Given the description of an element on the screen output the (x, y) to click on. 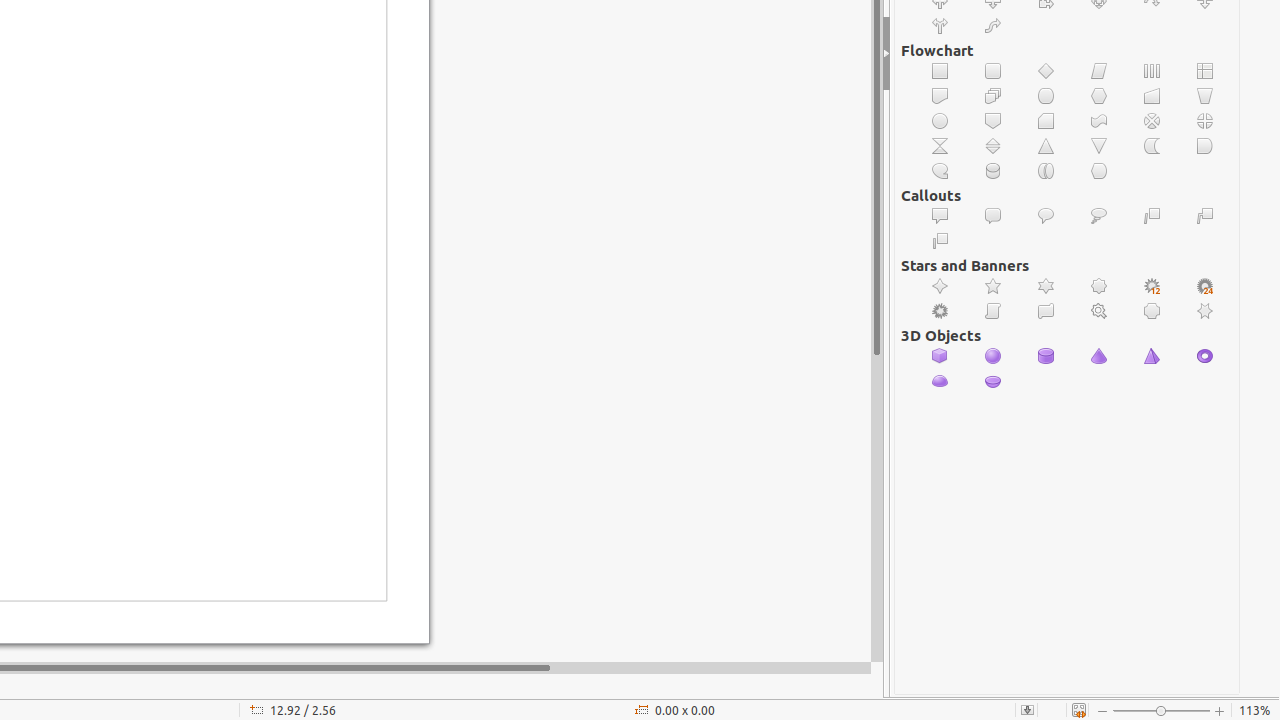
6-Point Star, Concave Element type: list-item (1205, 311)
Line Callout 1 Element type: list-item (1152, 216)
Flowchart: Document Element type: list-item (940, 96)
5-Point Star Element type: list-item (993, 286)
Flowchart: Manual Input Element type: list-item (1152, 96)
